Given the description of an element on the screen output the (x, y) to click on. 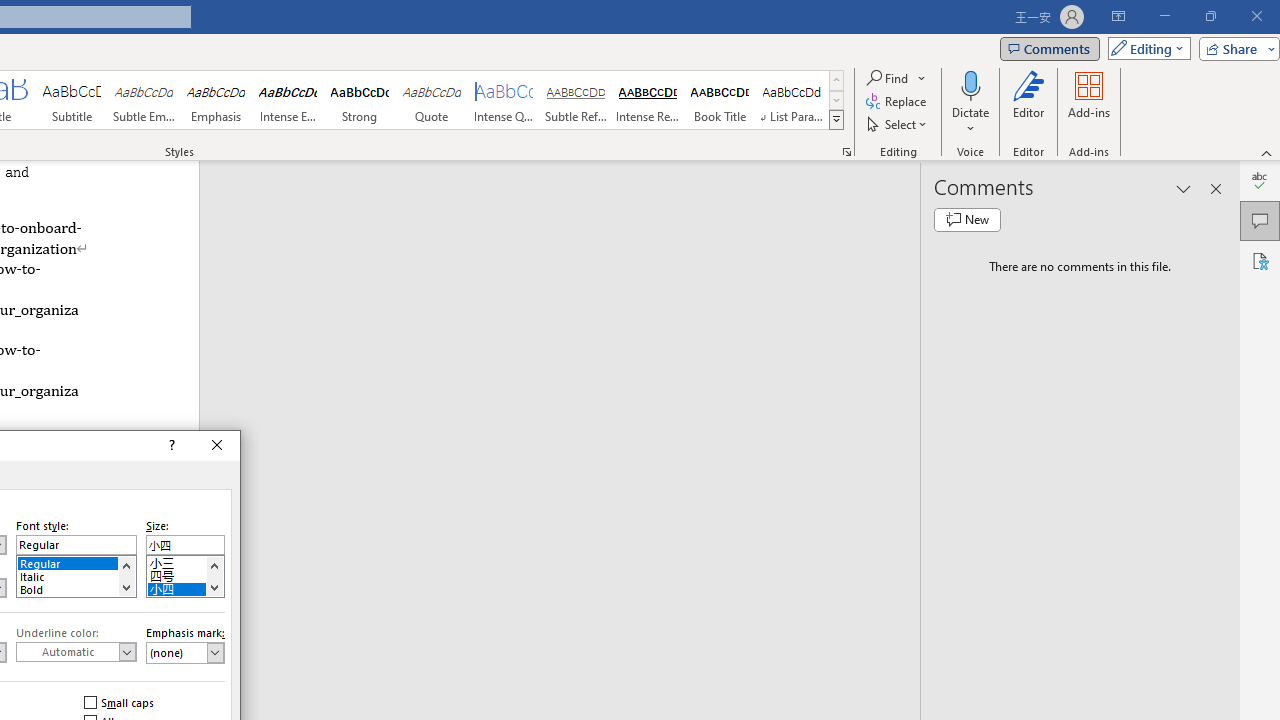
Regular (75, 561)
Size: (185, 544)
Dictate (970, 102)
Font style: (75, 544)
Underline Color (Automatic) (75, 651)
Class: NetUIImage (836, 119)
Share (1235, 48)
New comment (967, 219)
Line up (214, 565)
Row Down (836, 100)
Intense Reference (647, 100)
Italic (75, 574)
Editing (1144, 47)
Book Title (719, 100)
